Given the description of an element on the screen output the (x, y) to click on. 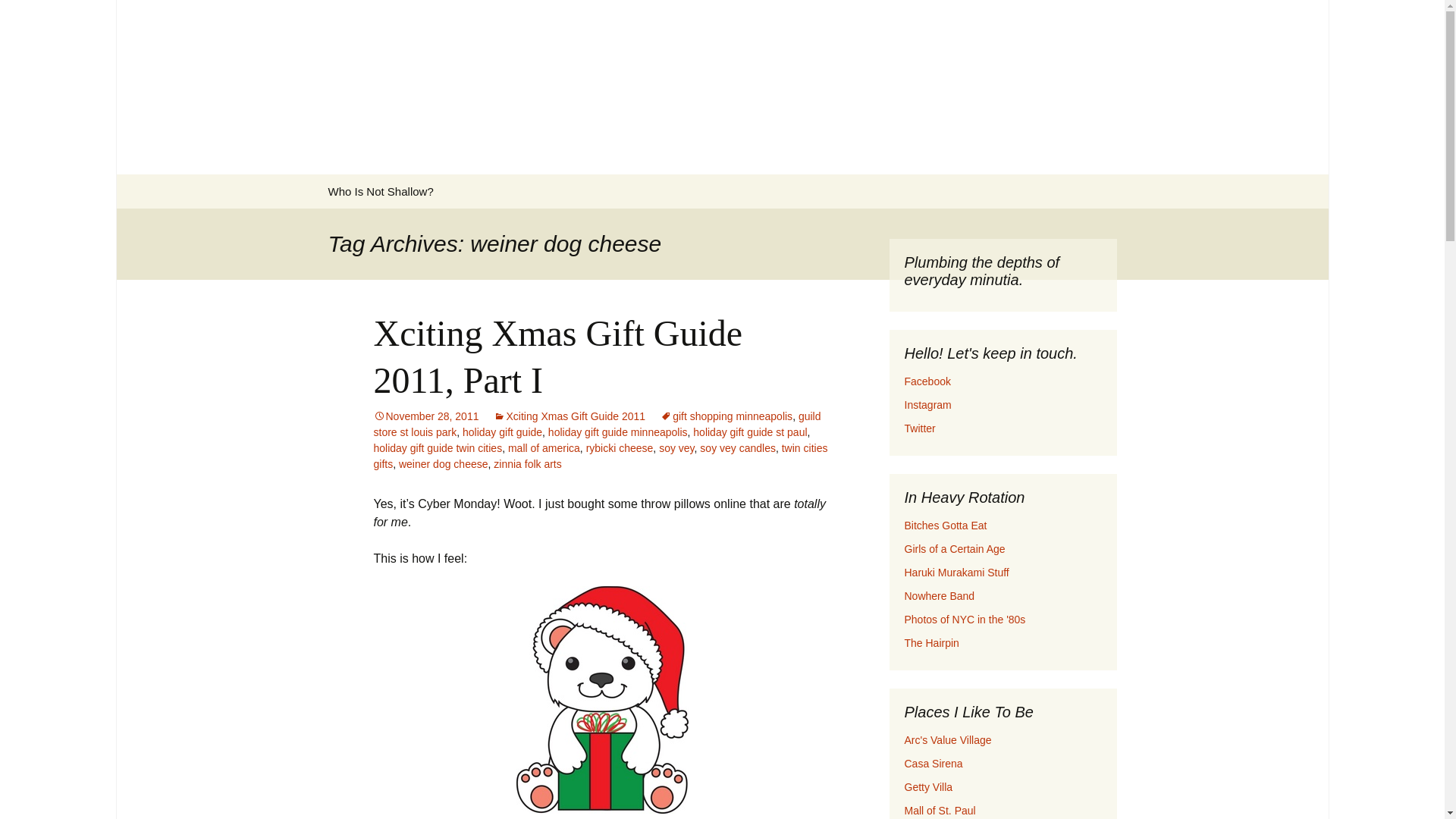
Xciting Xmas Gift Guide 2011, Part I (557, 356)
soy vey (676, 448)
RAD! (939, 595)
holiday gift guide (502, 431)
gift shopping minneapolis (726, 416)
Me tweet! (919, 428)
holiday gift guide minneapolis (617, 431)
Girls of a Certain Age (954, 548)
This is some funny shit! (945, 525)
A Murakami Fan Blog (956, 572)
